Given the description of an element on the screen output the (x, y) to click on. 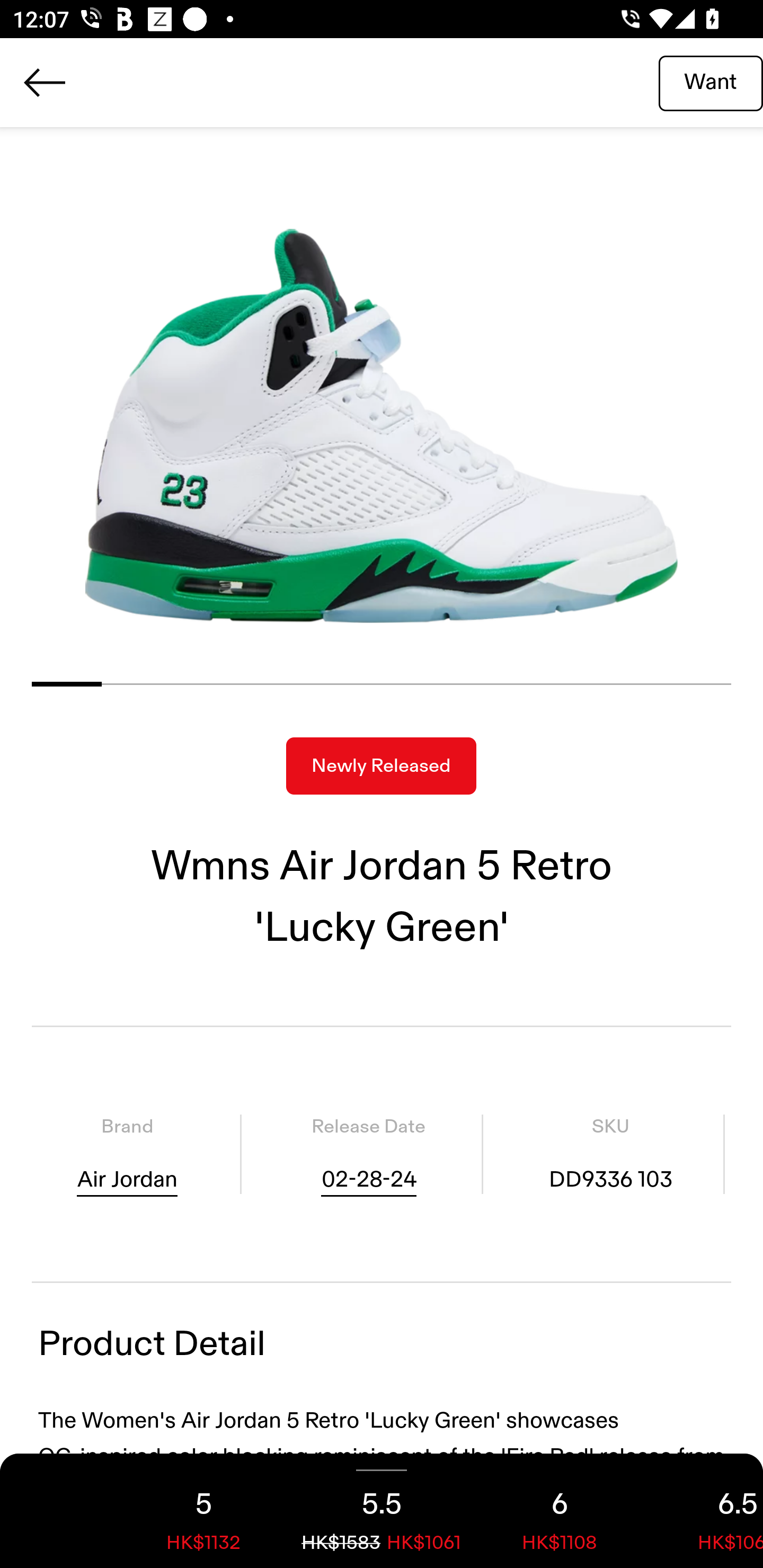
Want (710, 82)
Newly Released (381, 765)
Brand Air Jordan (126, 1153)
Release Date 02-28-24 (368, 1153)
SKU DD9336 103 (609, 1153)
5 HK$1132 (203, 1510)
5.5 HK$1583 HK$1061 (381, 1510)
6 HK$1108 (559, 1510)
6.5 HK$1068 (705, 1510)
